Given the description of an element on the screen output the (x, y) to click on. 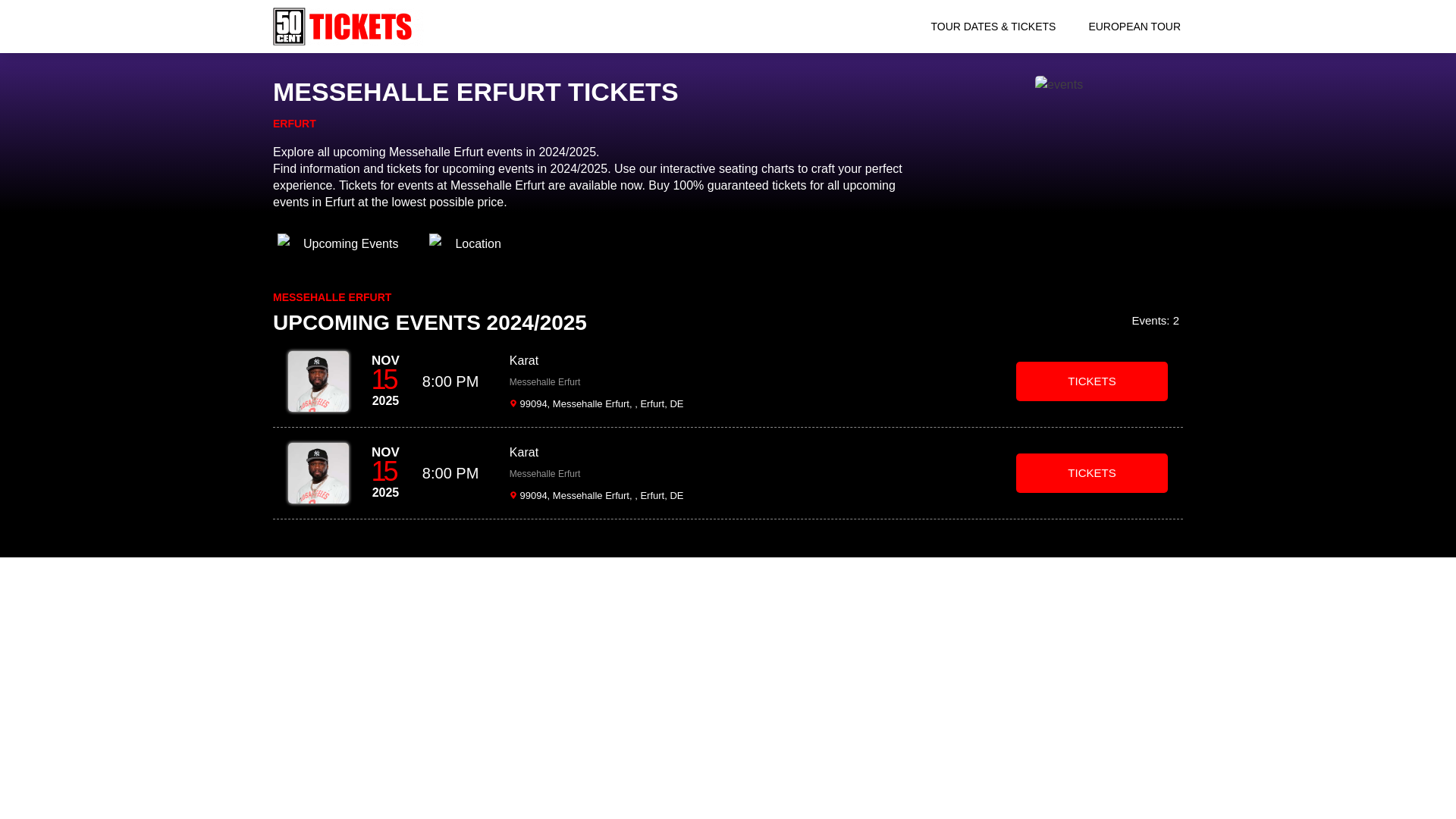
TICKETS (1091, 473)
TICKETS (1091, 381)
EUROPEAN TOUR (1133, 26)
